Given the description of an element on the screen output the (x, y) to click on. 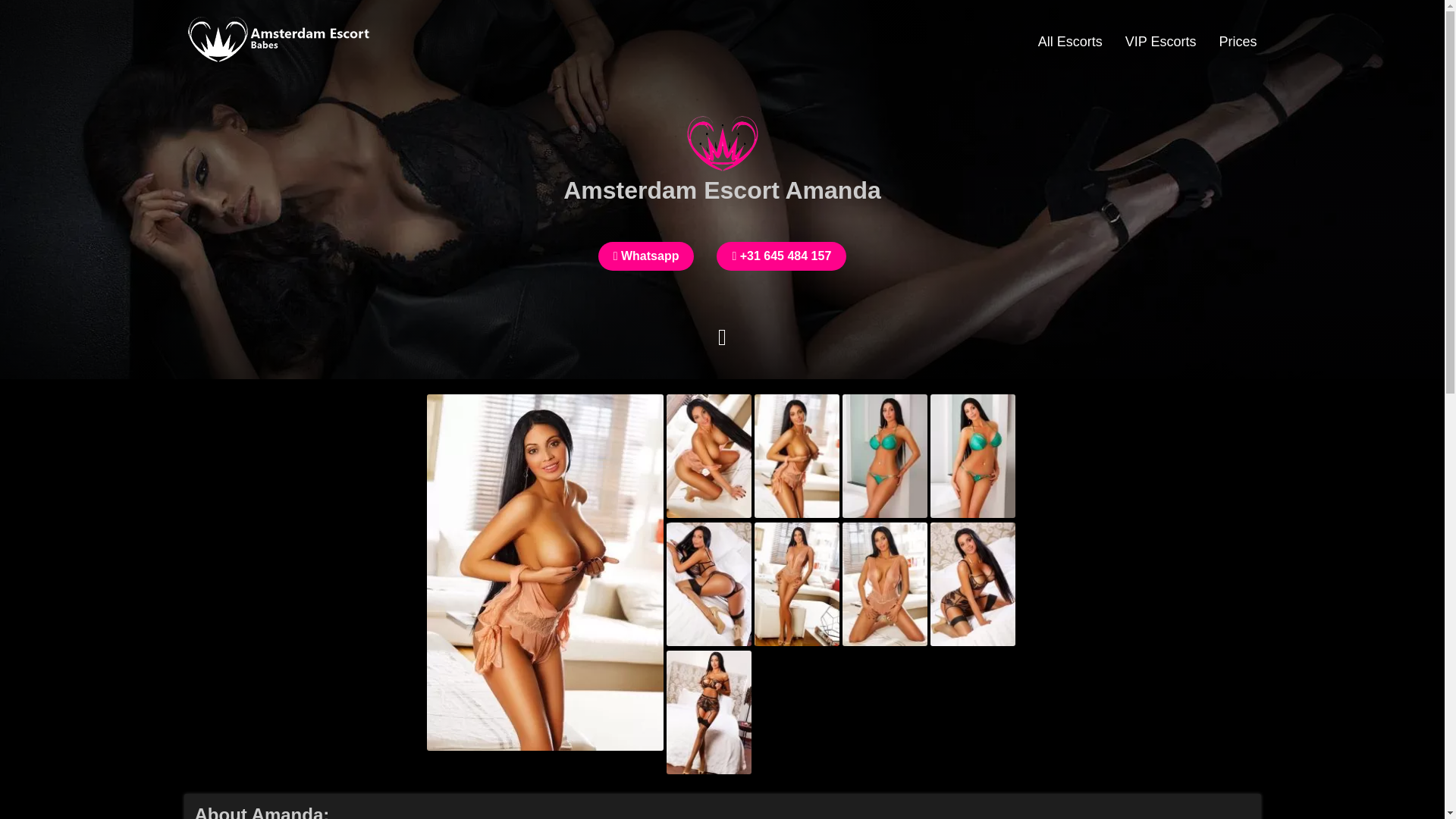
All Escorts (1069, 40)
Whatsapp (646, 256)
Amsterdam Escort Baes (277, 60)
Prices (1237, 40)
VIP Escorts (1160, 40)
